Given the description of an element on the screen output the (x, y) to click on. 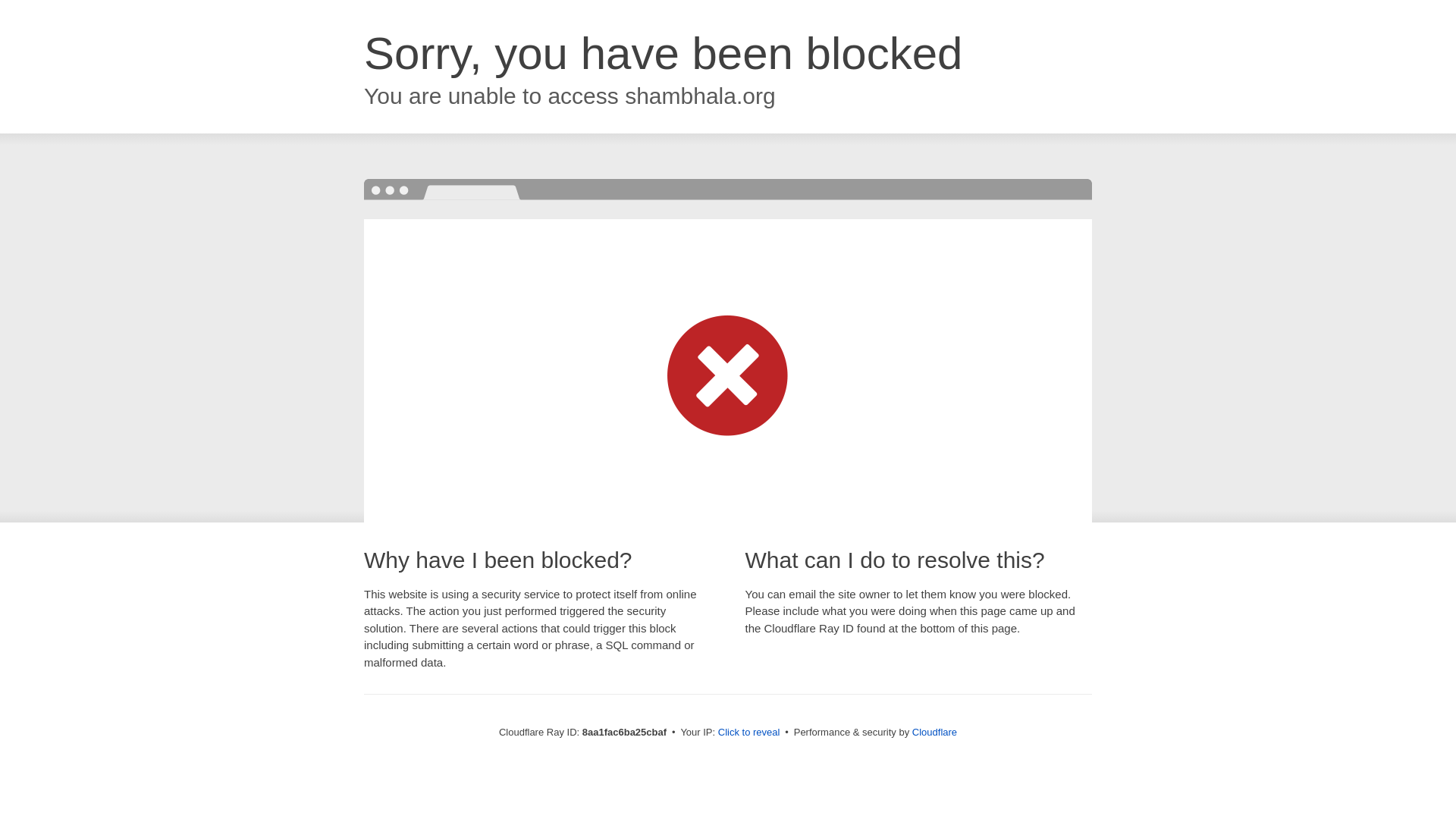
Click to reveal (748, 732)
Cloudflare (934, 731)
